Given the description of an element on the screen output the (x, y) to click on. 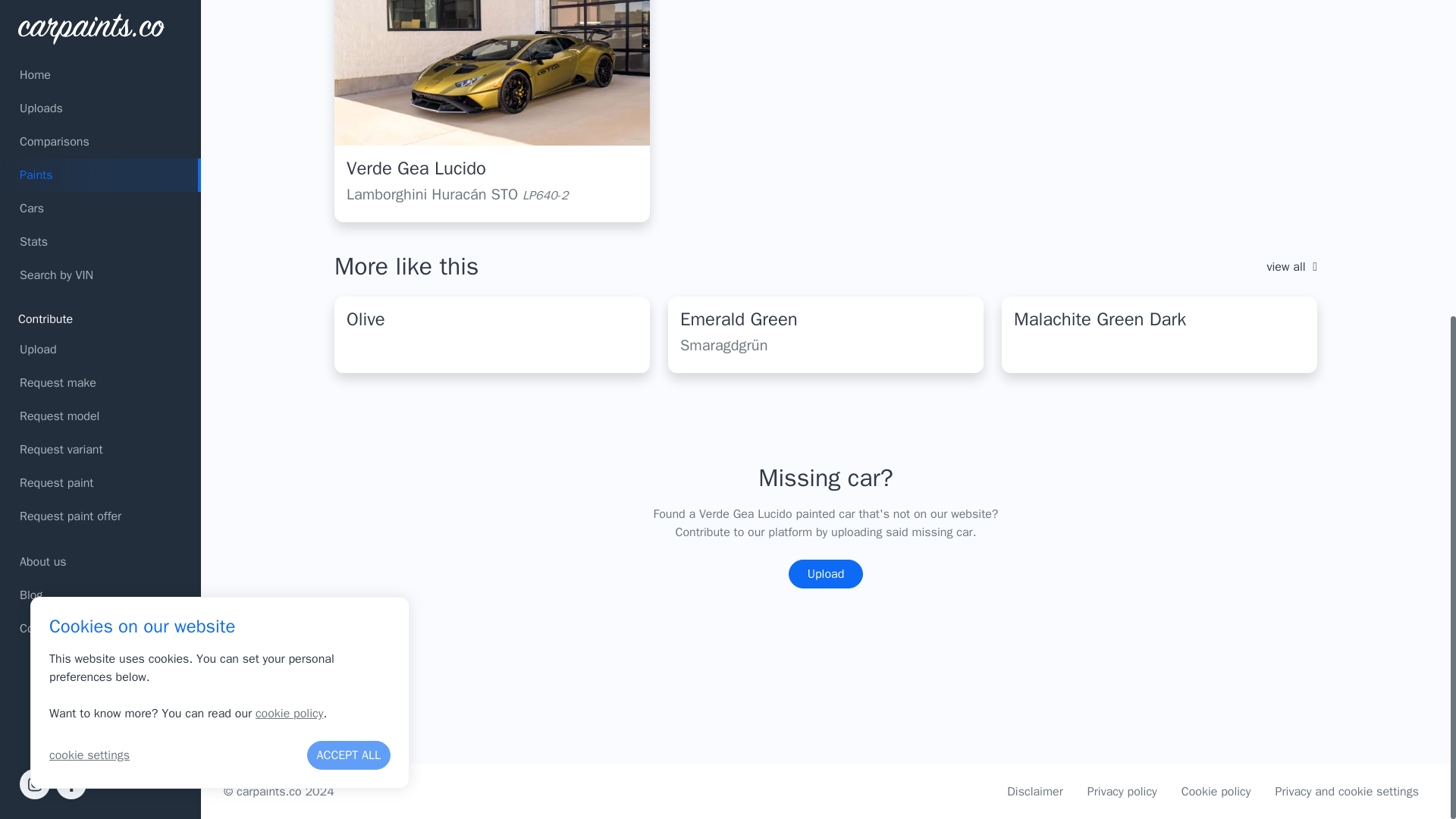
About us (100, 47)
cookie policy (289, 199)
cookie settings (89, 240)
Request paint offer (100, 9)
Request paint offer (100, 9)
Facebook (70, 269)
Contact (100, 114)
Contact (100, 114)
Blog (100, 80)
About us (100, 47)
Instagram (34, 269)
Blog (100, 80)
ACCEPT ALL (348, 240)
